Given the description of an element on the screen output the (x, y) to click on. 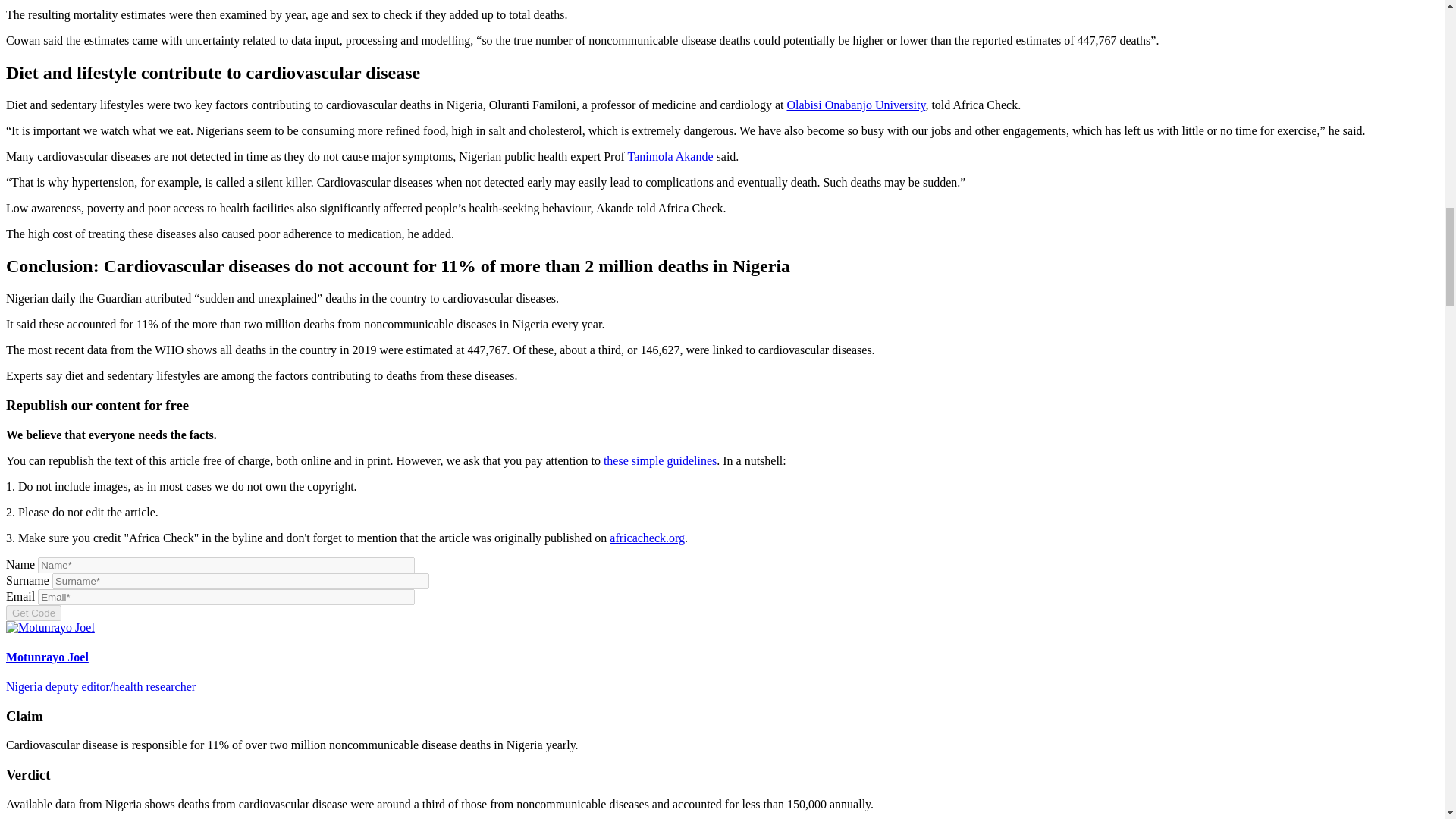
Get Code (33, 612)
